Given the description of an element on the screen output the (x, y) to click on. 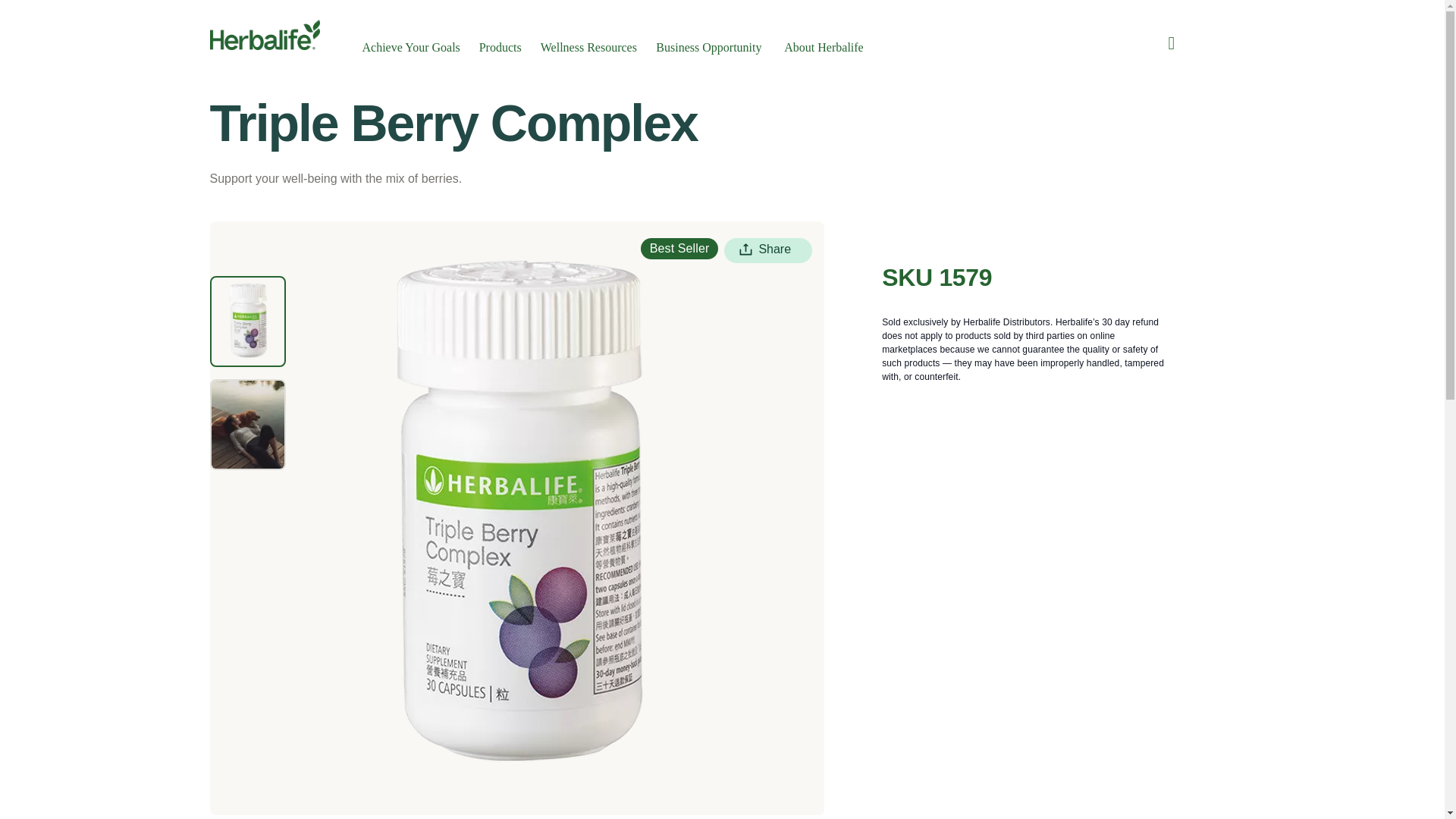
share-page (767, 250)
Products (502, 38)
Achieve Your Goals (413, 38)
